Given the description of an element on the screen output the (x, y) to click on. 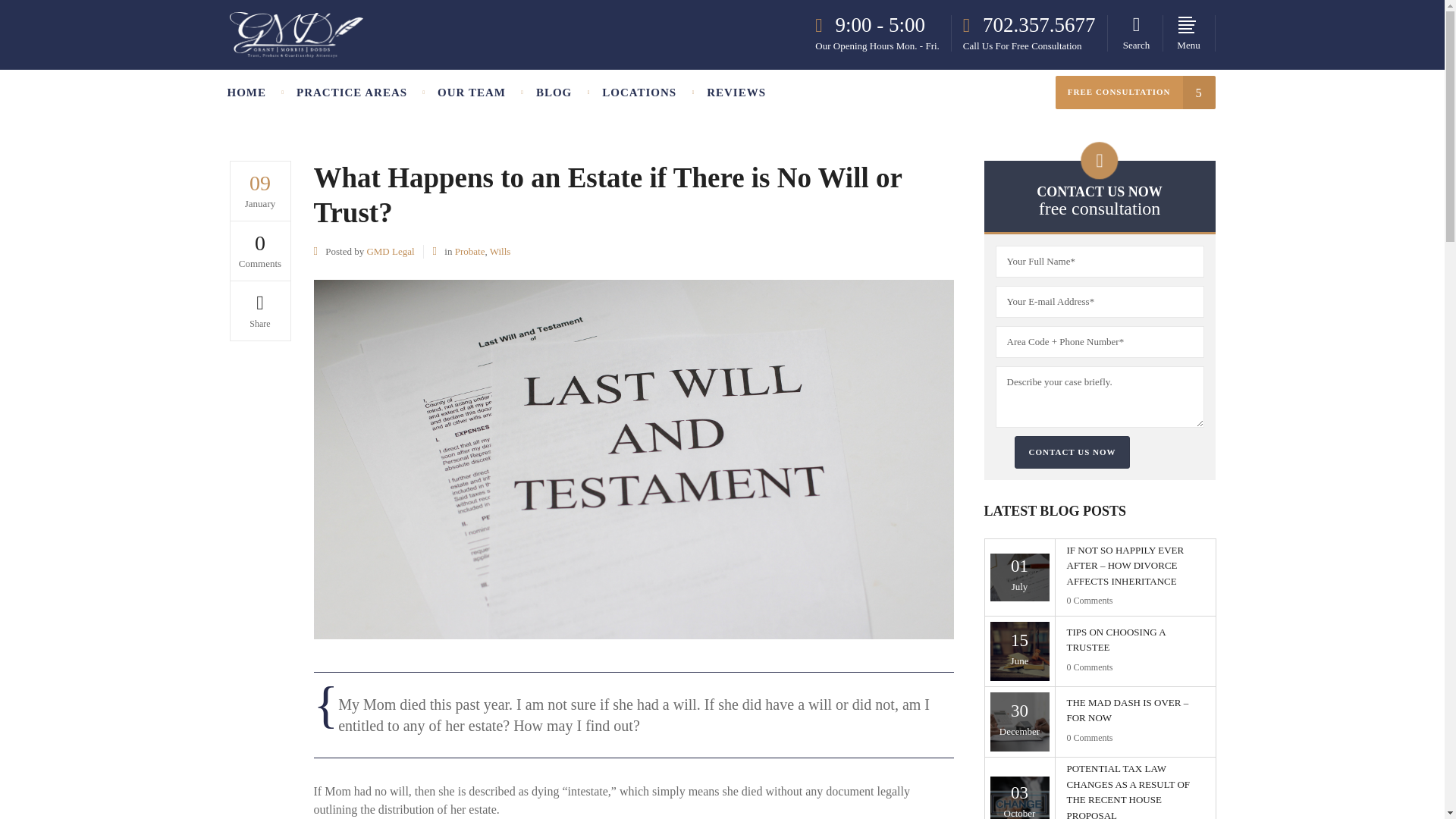
OUR TEAM (471, 92)
Contact us now (1071, 451)
Menu (1188, 33)
Search (1135, 33)
Contact us now (875, 703)
PRACTICE AREAS (351, 92)
702.357.5677 (1029, 25)
HOME (254, 92)
